Given the description of an element on the screen output the (x, y) to click on. 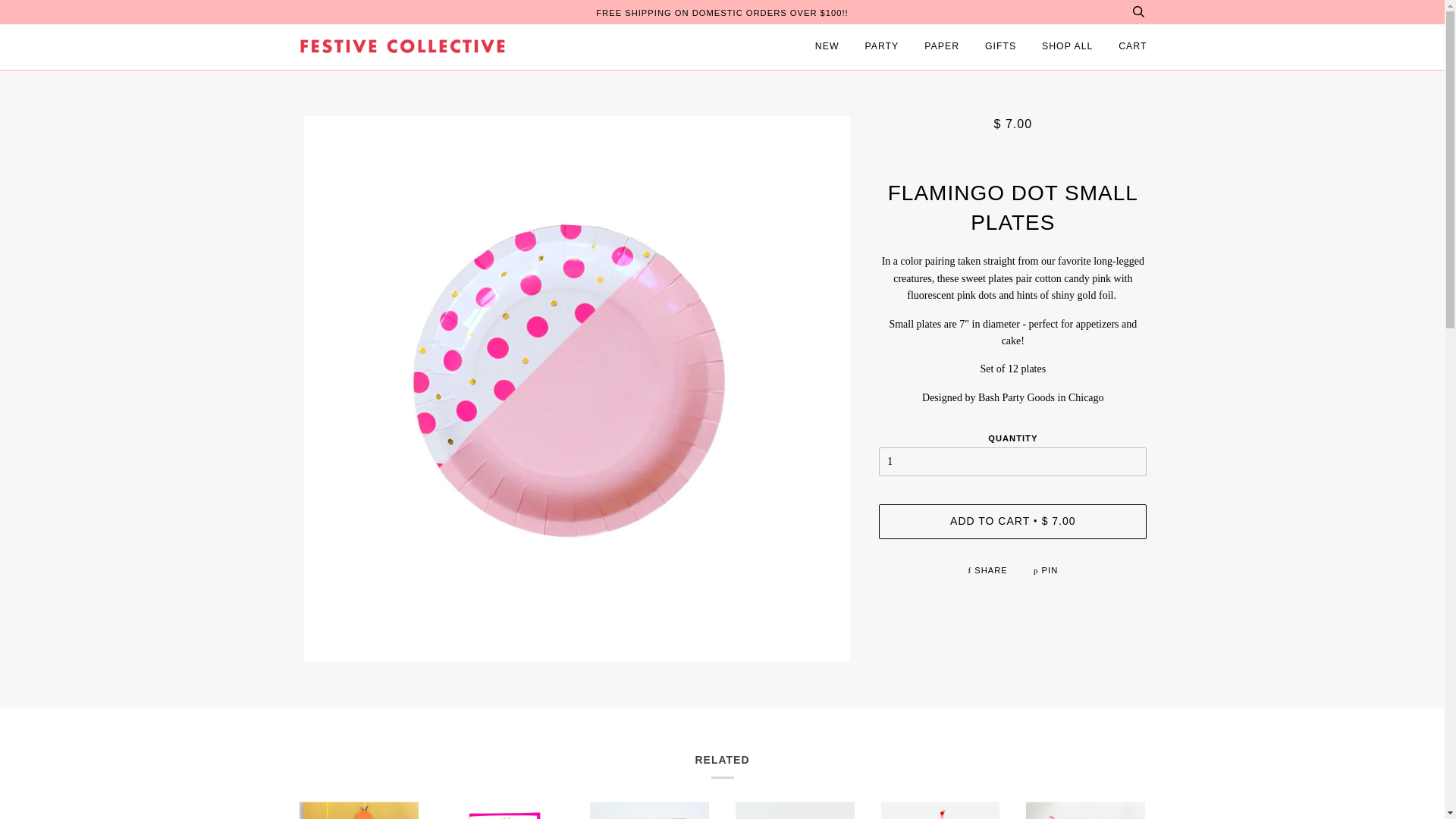
PAPER (941, 46)
CART (1132, 46)
SHOP ALL (1067, 46)
NEW (827, 46)
GIFTS (1000, 46)
PARTY (881, 46)
1 (1013, 461)
